Given the description of an element on the screen output the (x, y) to click on. 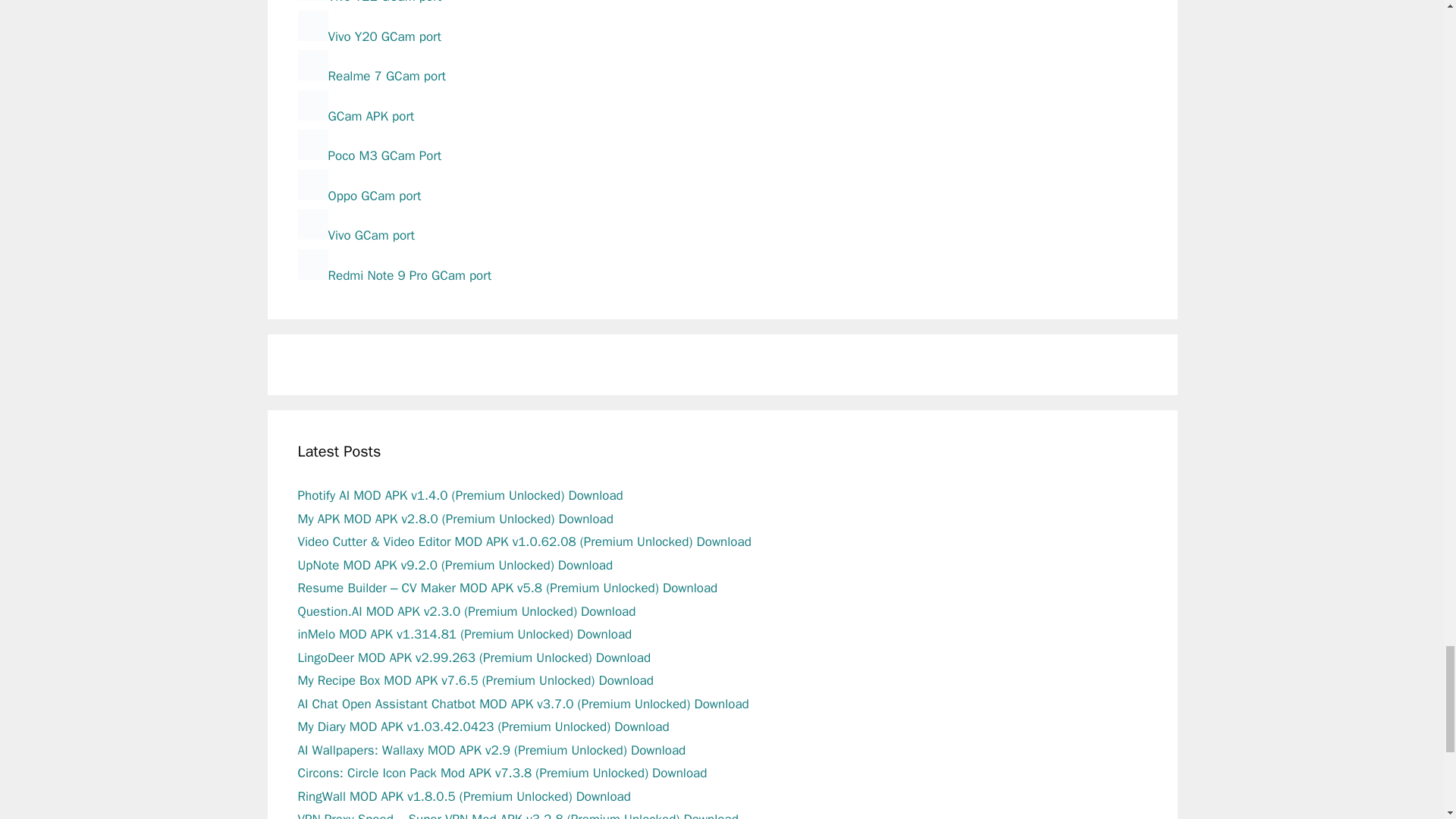
Redmi Note 9 Pro GCam port (394, 275)
Vivo Y20 GCam port (369, 36)
Download Google Camera apk port for vivo Y21 (369, 2)
GCam port download (355, 116)
GCam port for Redmi Note 9 Pro (394, 275)
Google camera port for Vivo (355, 235)
Download GCam port for Poco M3 Download (369, 155)
Download Google Camera apk port for vivo Y20 (369, 36)
Google camera port for oppo (358, 195)
Vivo Y21 GCam port (369, 2)
